Given the description of an element on the screen output the (x, y) to click on. 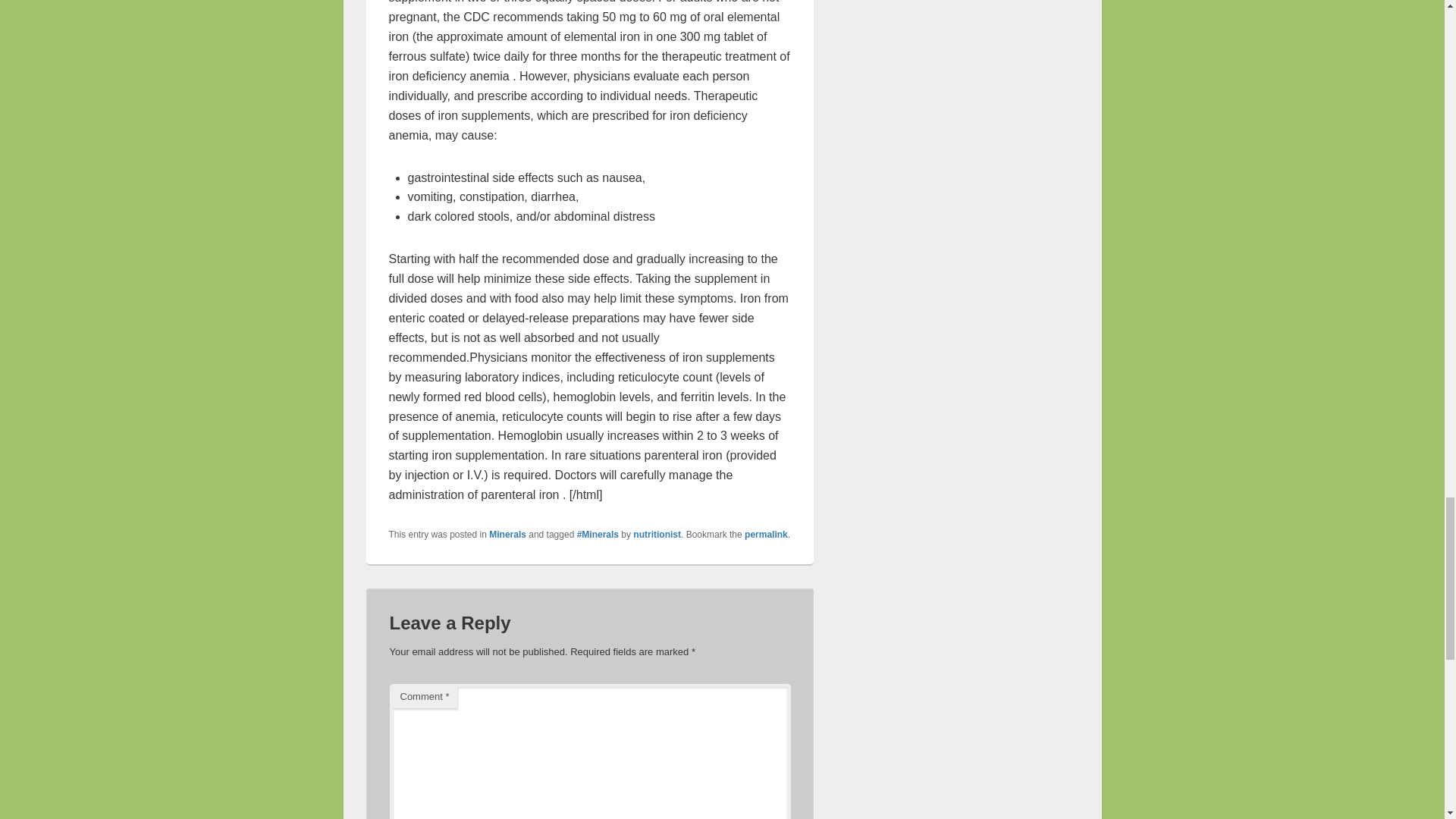
Minerals (507, 534)
nutritionist (657, 534)
permalink (765, 534)
